Given the description of an element on the screen output the (x, y) to click on. 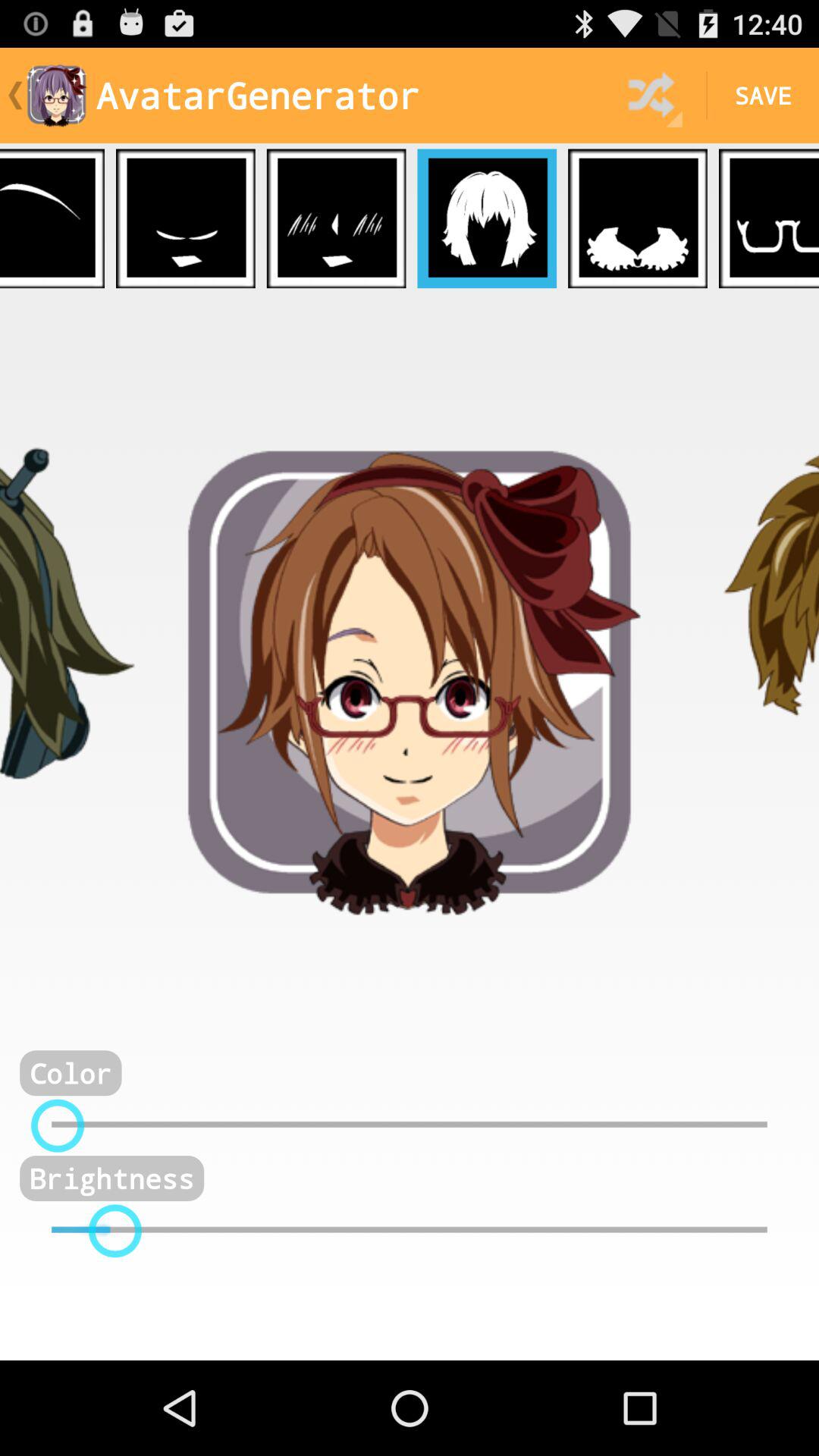
mustache and chin (185, 218)
